Given the description of an element on the screen output the (x, y) to click on. 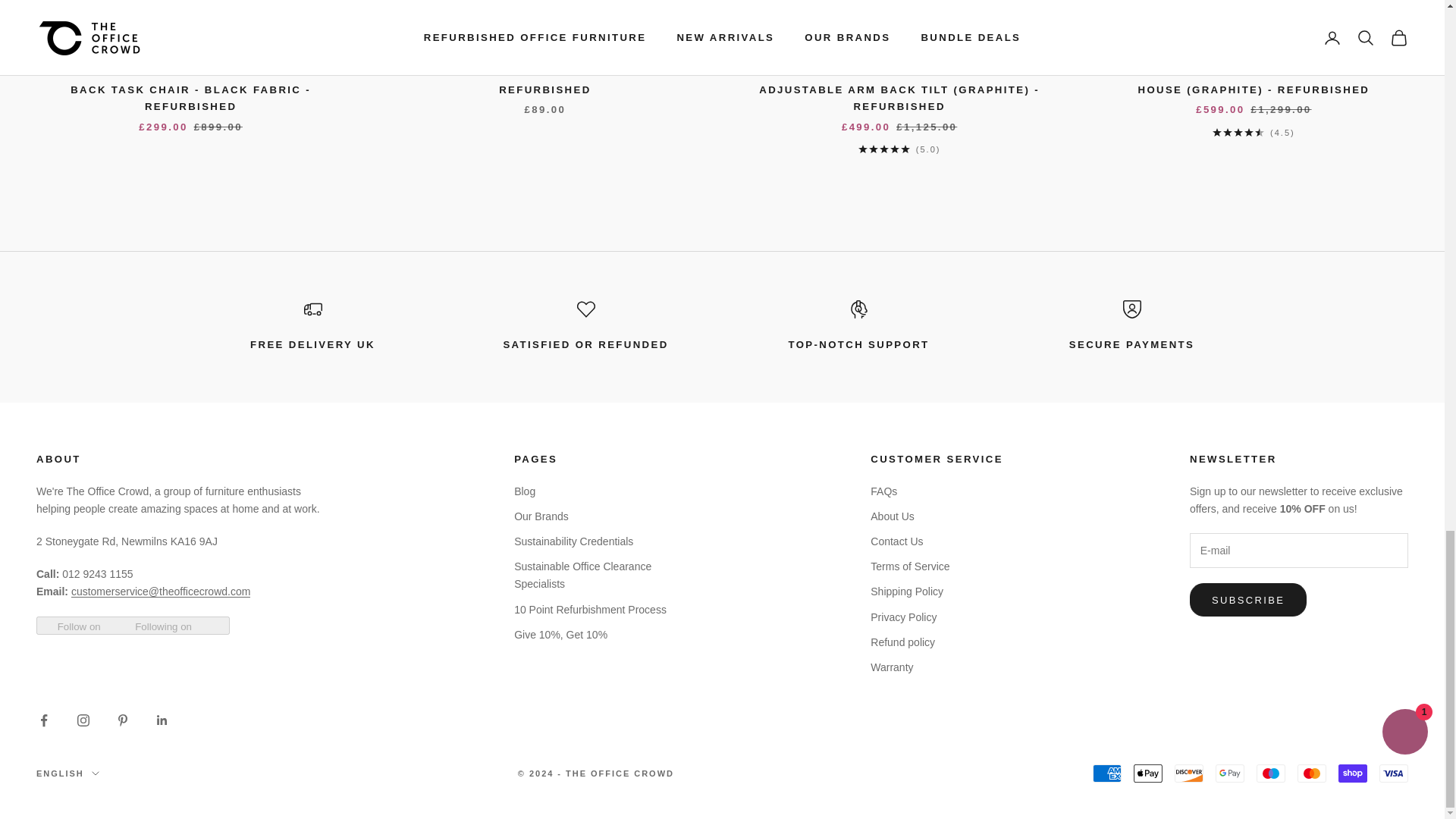
2 reviews (1253, 132)
1 review (899, 148)
